Given the description of an element on the screen output the (x, y) to click on. 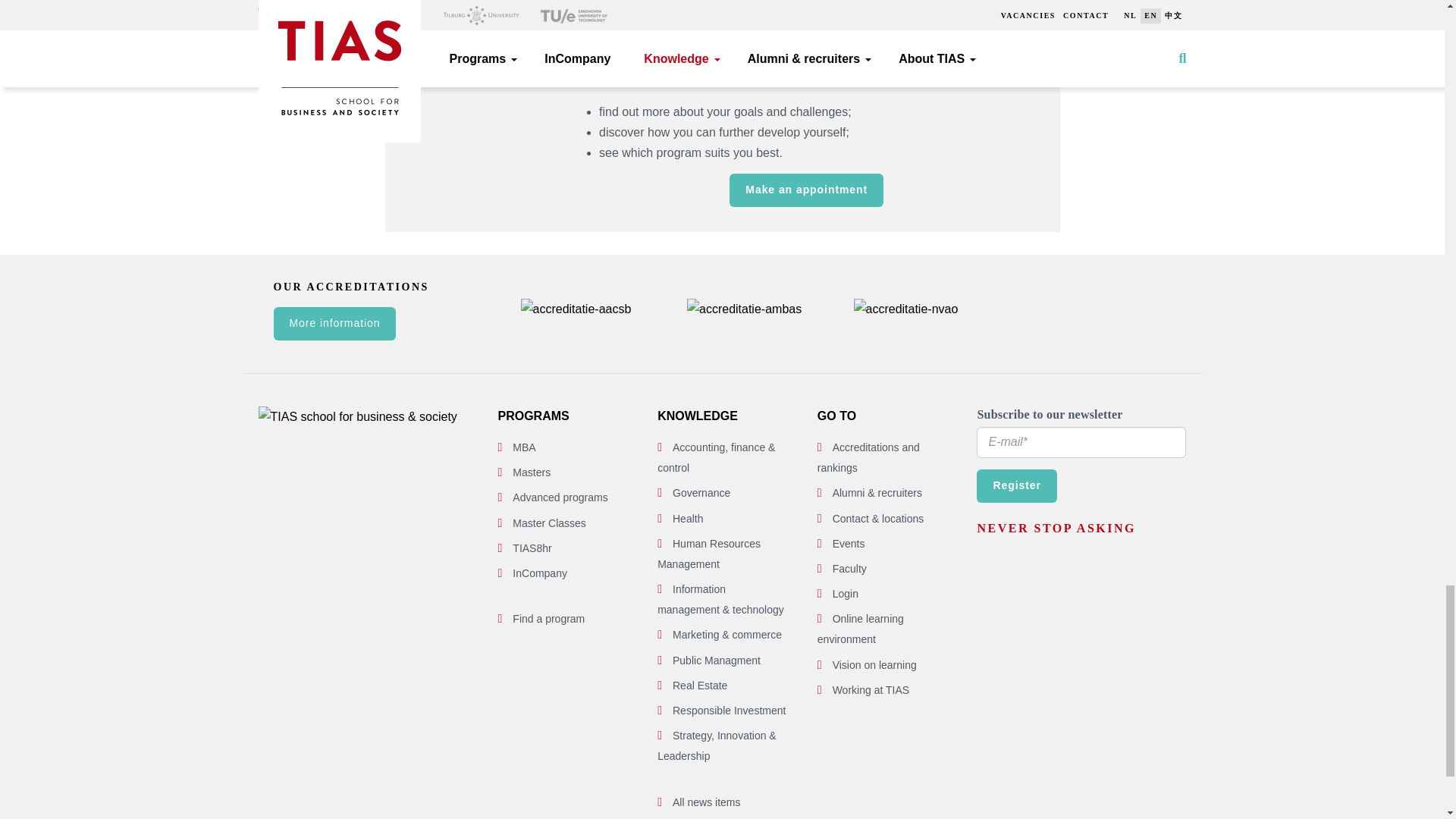
accreditatie-ambas (744, 308)
Events at TIAS (848, 543)
accreditatie-aacsb (574, 308)
accreditatie-nvao (905, 308)
Register (1016, 485)
Faculty (849, 568)
Login (845, 593)
Accreditations and rankings (868, 457)
